Given the description of an element on the screen output the (x, y) to click on. 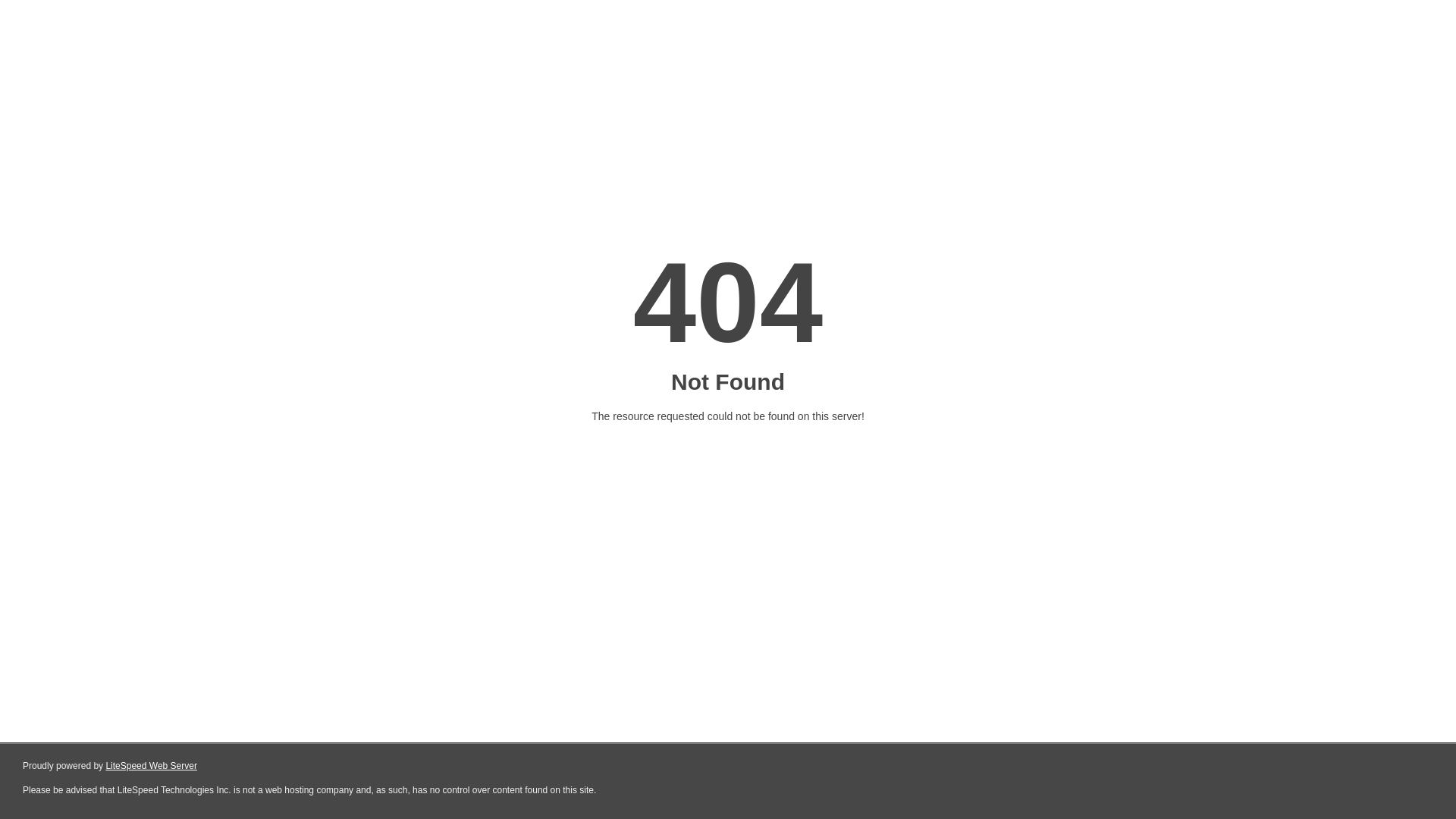
LiteSpeed Web Server Element type: text (151, 765)
